Given the description of an element on the screen output the (x, y) to click on. 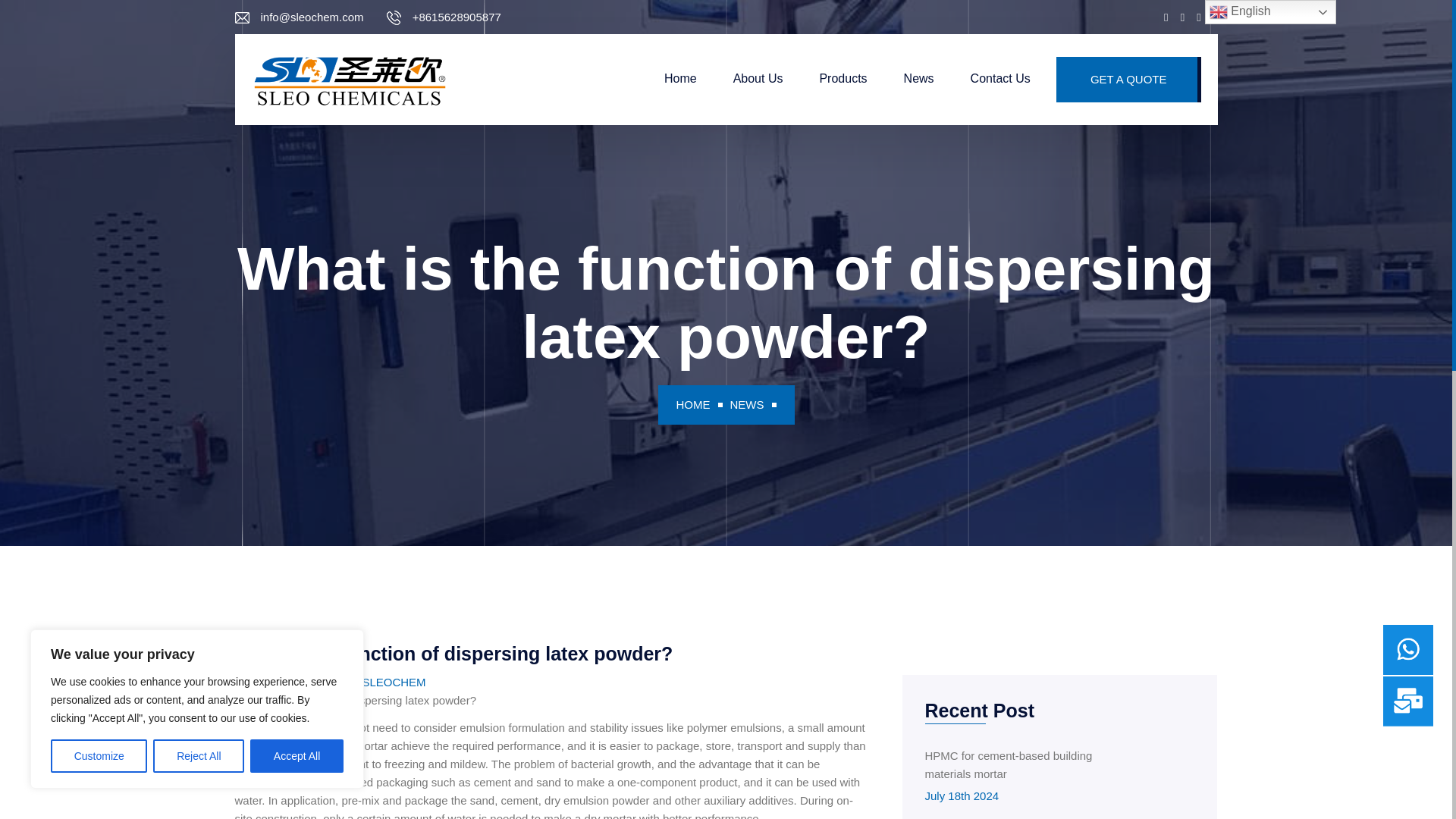
News (919, 78)
Reject All (198, 756)
call (456, 16)
Twitter (1197, 16)
January 7th 2022 (290, 682)
SLEOCHEM (349, 79)
Linkedin (1182, 16)
About Us (758, 78)
GET A QUOTE (1129, 79)
Facebook (1165, 16)
mail (312, 16)
HOME (693, 404)
Customize (98, 756)
Home (680, 78)
SLEOCHEM (393, 682)
